Given the description of an element on the screen output the (x, y) to click on. 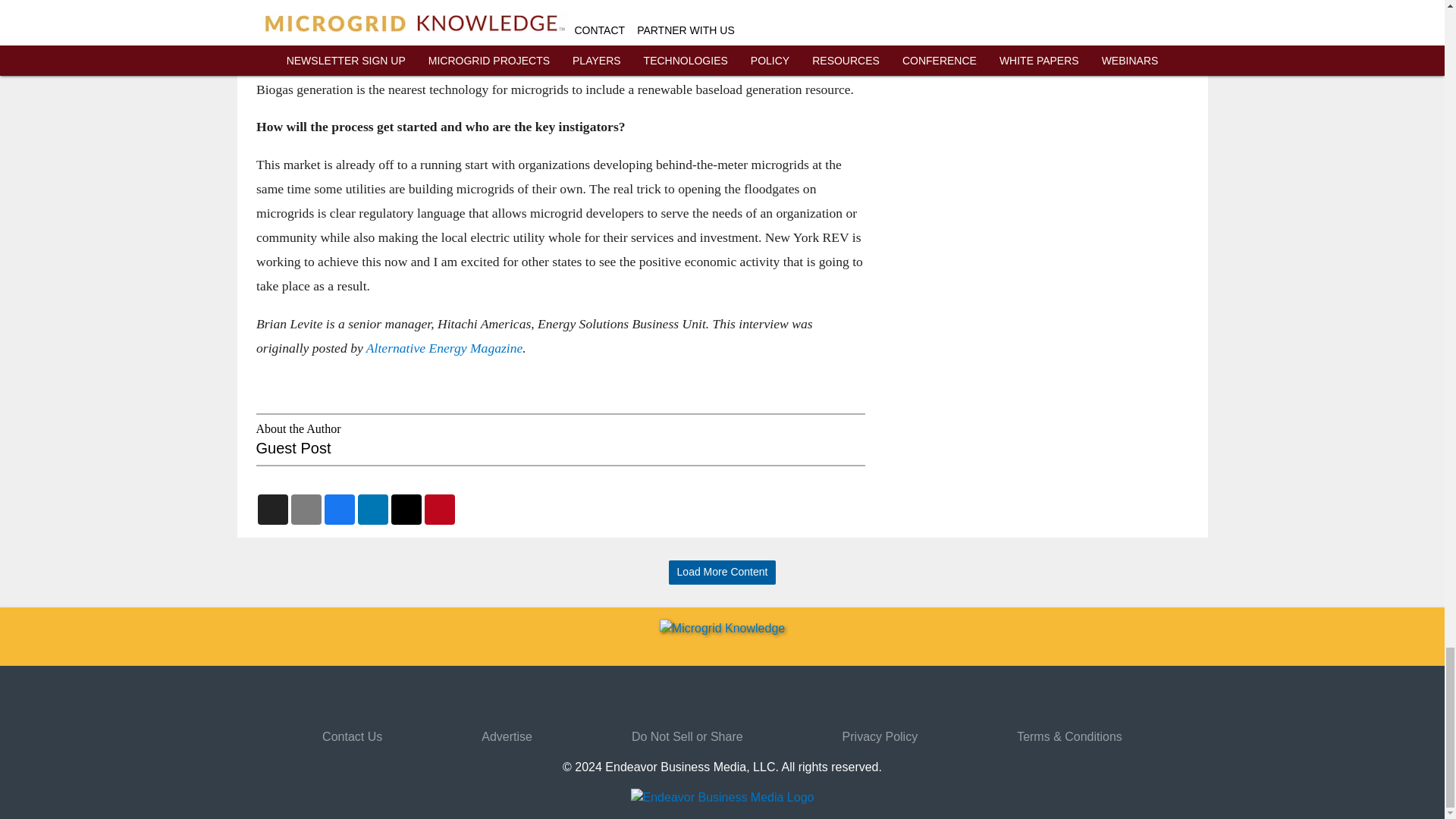
Alternative Energy Magazine (443, 347)
Load More Content (722, 572)
